Given the description of an element on the screen output the (x, y) to click on. 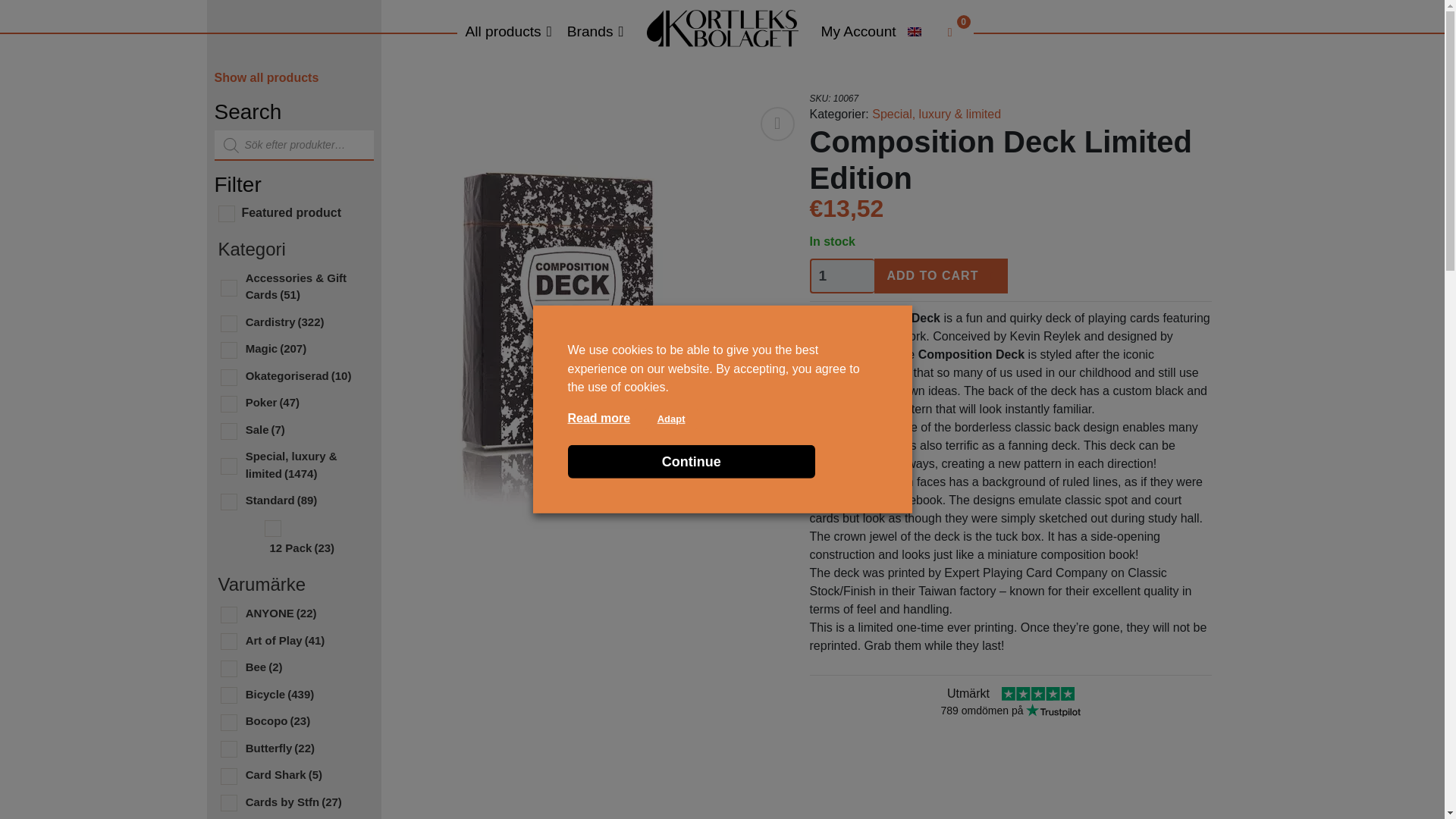
Brands (595, 31)
My Account (857, 31)
Kortleksbolaget (721, 27)
All products (508, 31)
Show all products (266, 77)
All products (508, 31)
1 (842, 275)
Brands (595, 31)
